Given the description of an element on the screen output the (x, y) to click on. 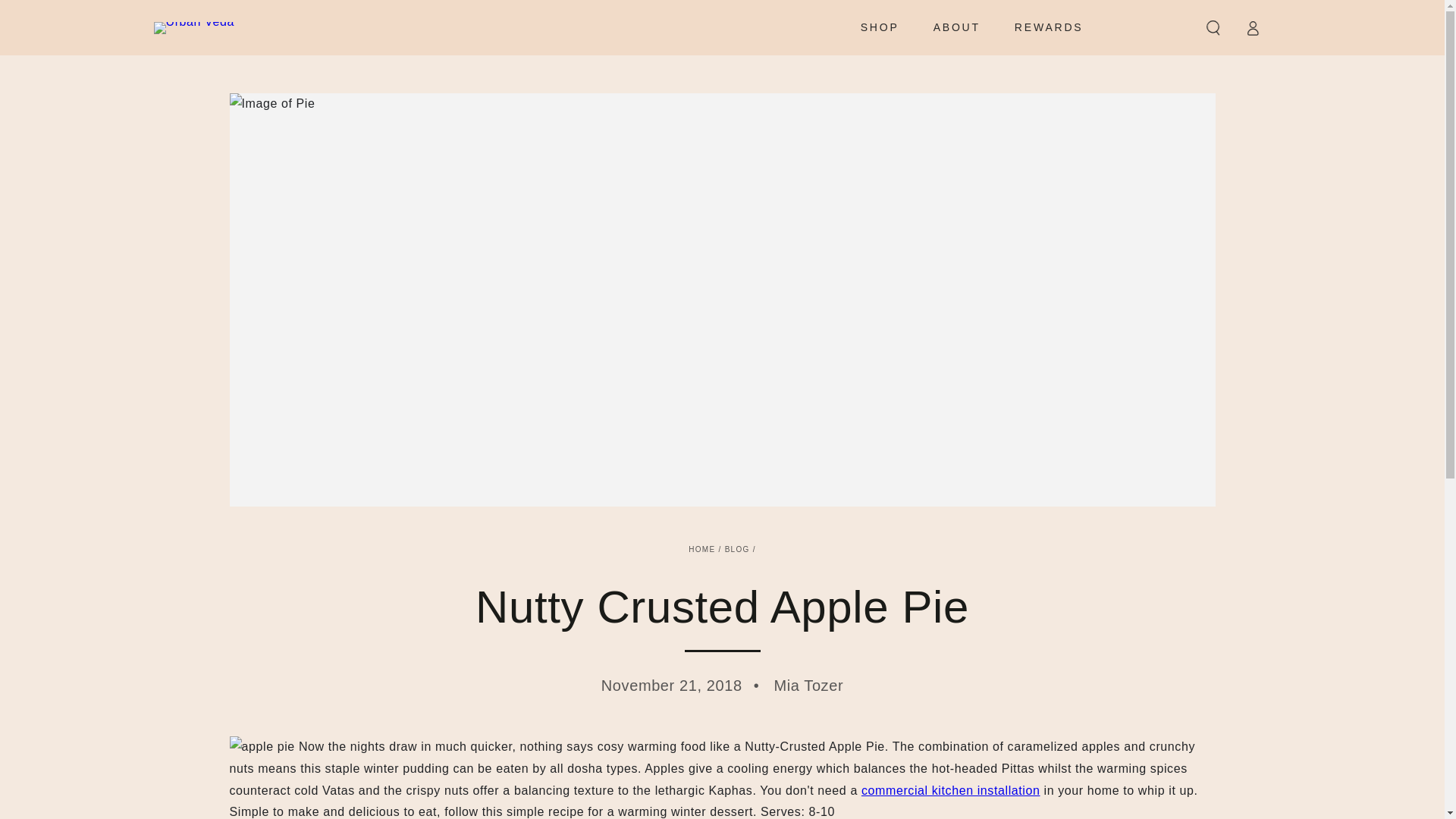
apple pie (261, 747)
SKIP TO CONTENT (67, 14)
Back to the frontpage (701, 549)
